Given the description of an element on the screen output the (x, y) to click on. 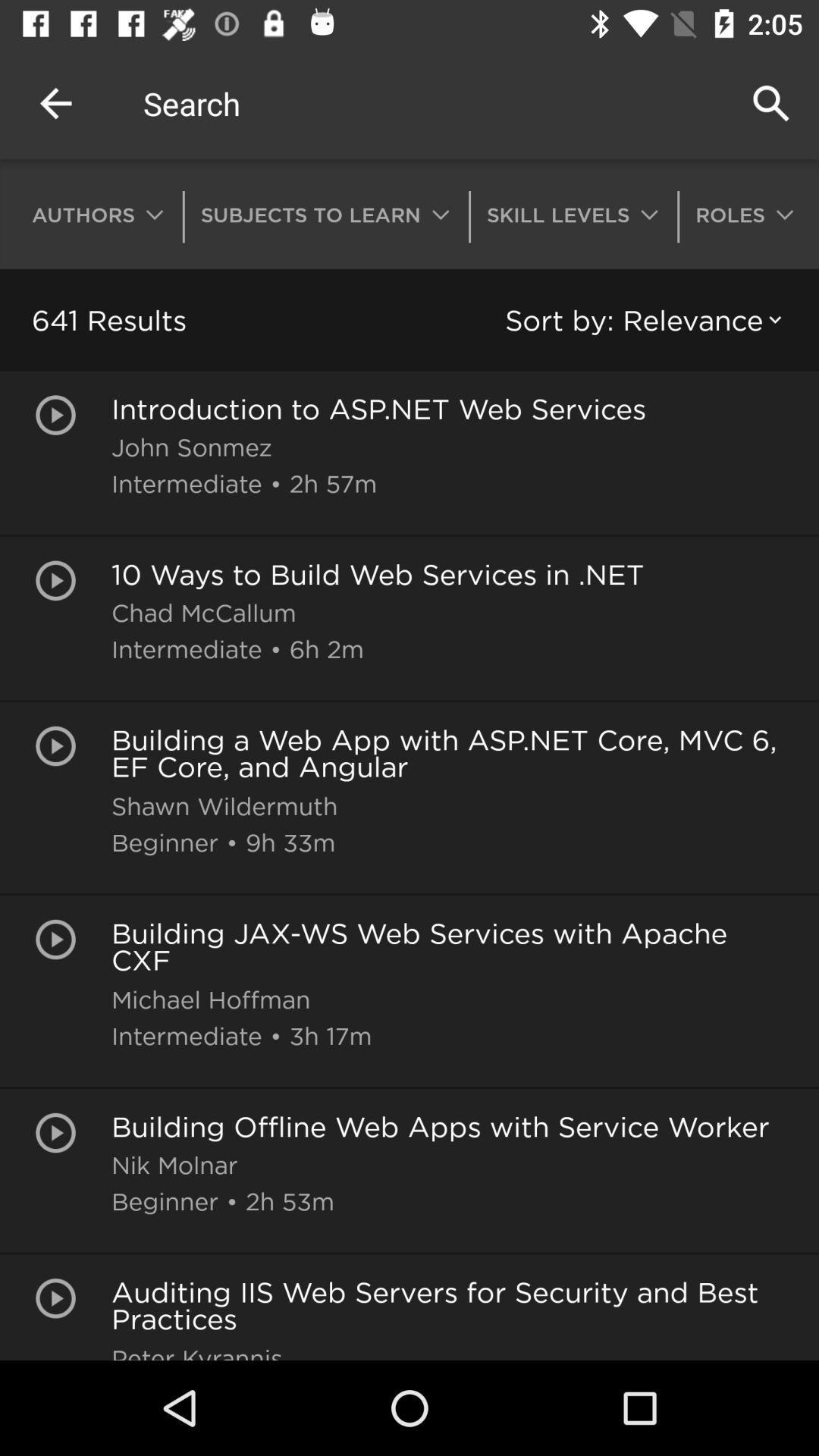
jump to the sort by: relevance (646, 319)
